Given the description of an element on the screen output the (x, y) to click on. 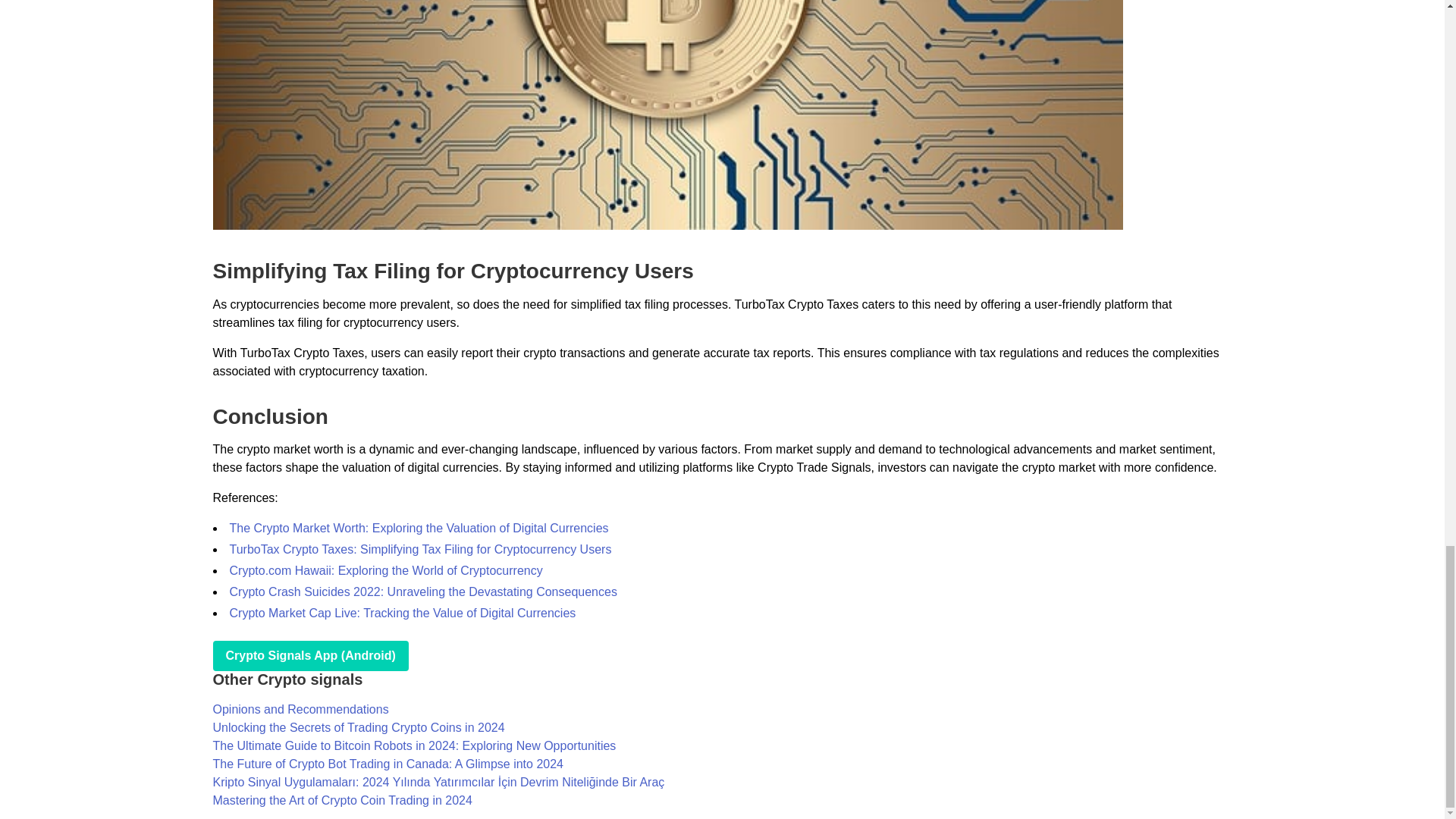
Opinions and Recommendations (300, 708)
play (309, 655)
Unlocking the Secrets of Trading Crypto Coins in 2024 (357, 727)
Opinions and Recommendations (300, 708)
Mastering the Art of Crypto Coin Trading in 2024 (341, 799)
Mastering the Art of Crypto Coin Trading in 2024 (341, 799)
Unlocking the Secrets of Trading Crypto Coins in 2024 (357, 727)
